Given the description of an element on the screen output the (x, y) to click on. 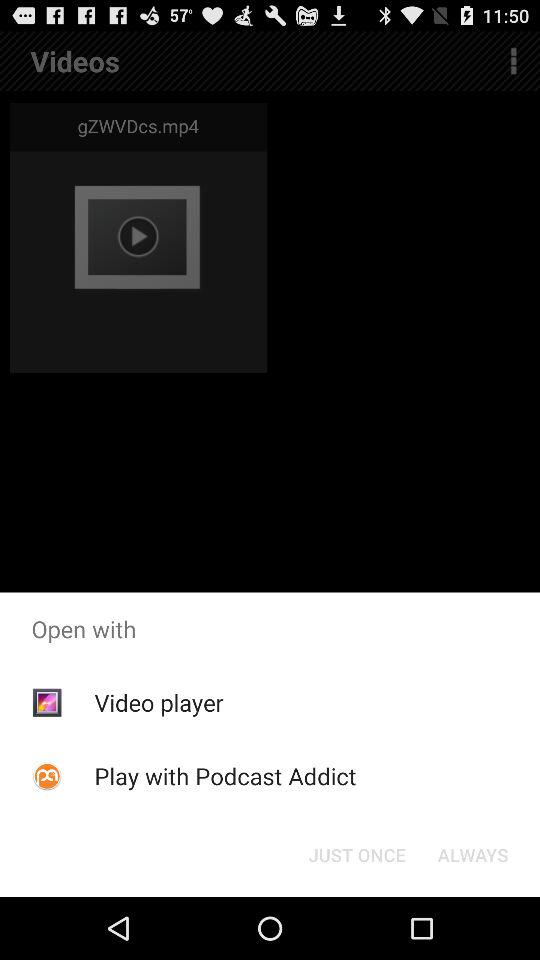
click play with podcast app (225, 775)
